Given the description of an element on the screen output the (x, y) to click on. 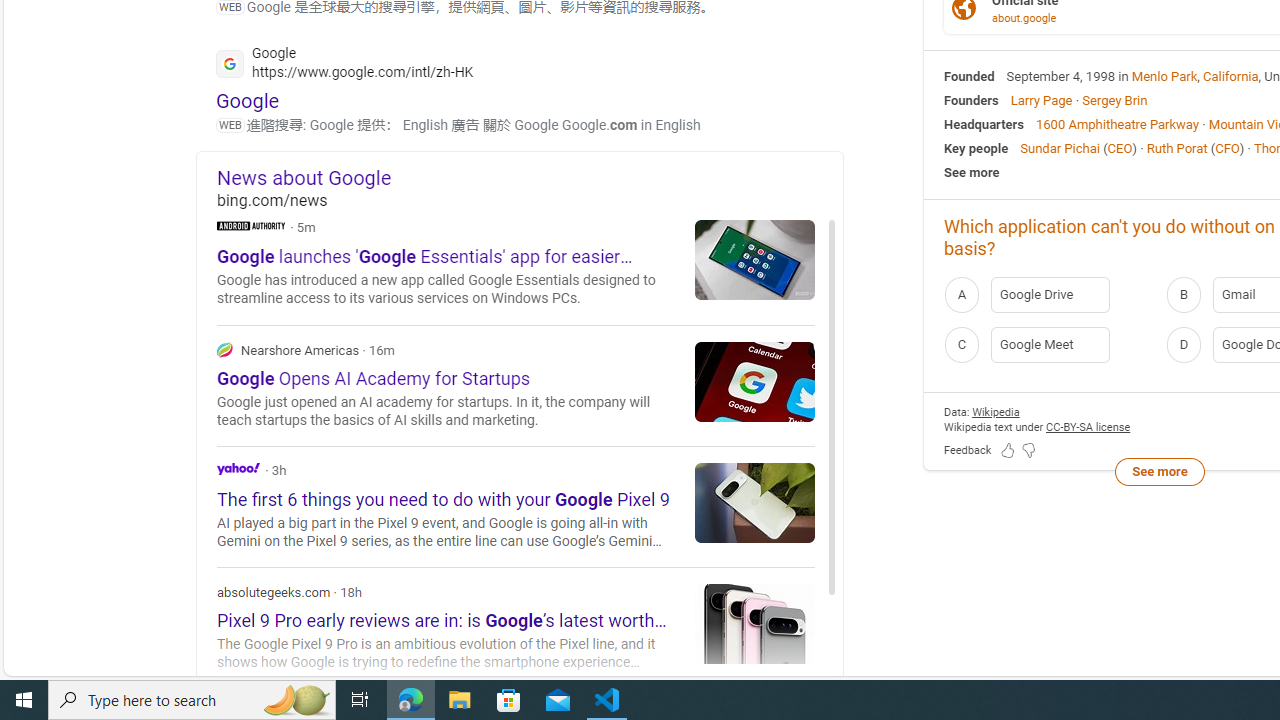
Nearshore Americas (516, 384)
Android Authority (251, 224)
Feedback Dislike (1028, 450)
Founders (971, 100)
California (1231, 75)
Google (248, 100)
Sergey Brin (1114, 100)
The first 6 things you need to do with your Google Pixel 9 (755, 502)
Data attribution Wikipedia (995, 411)
